Given the description of an element on the screen output the (x, y) to click on. 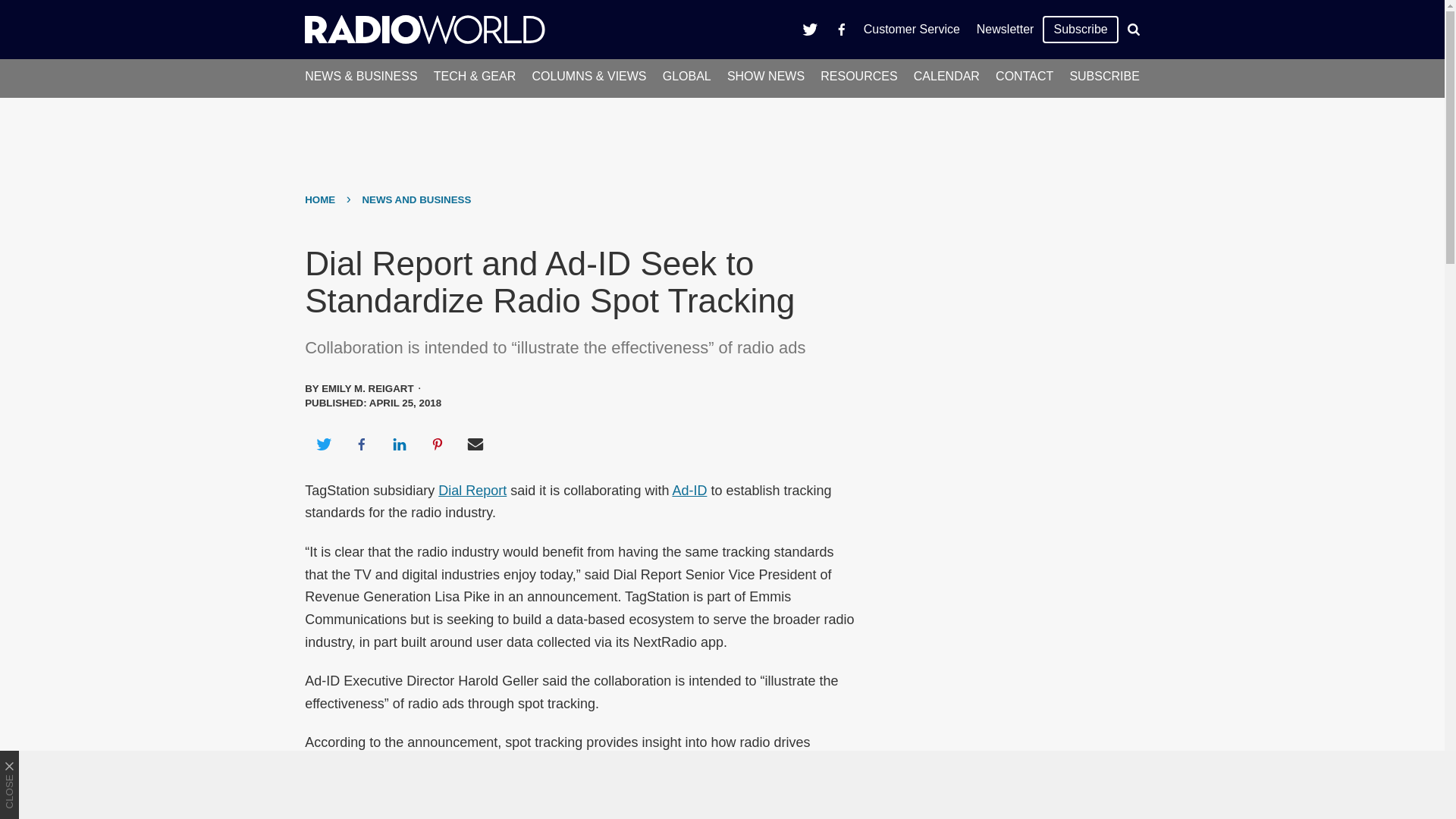
Share on Twitter (323, 444)
Customer Service (912, 29)
Share via Email (476, 444)
Share on Pinterest (438, 444)
Share on Facebook (361, 444)
Share on LinkedIn (399, 444)
